Given the description of an element on the screen output the (x, y) to click on. 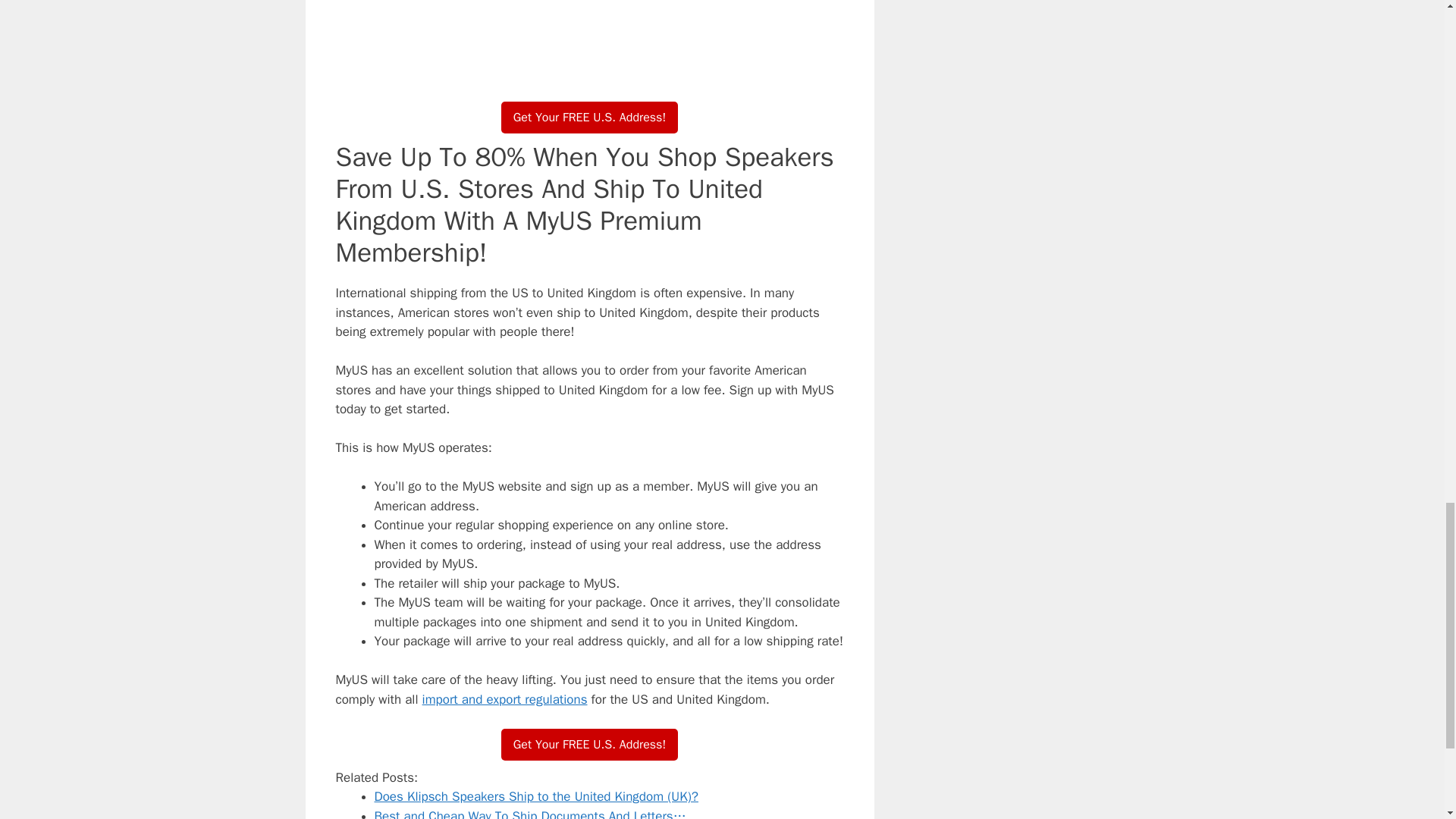
MyUS.com: How it Works (588, 38)
Get Your FREE U.S. Address! (589, 744)
Get Your FREE U.S. Address! (589, 117)
import and export regulations (505, 699)
